Given the description of an element on the screen output the (x, y) to click on. 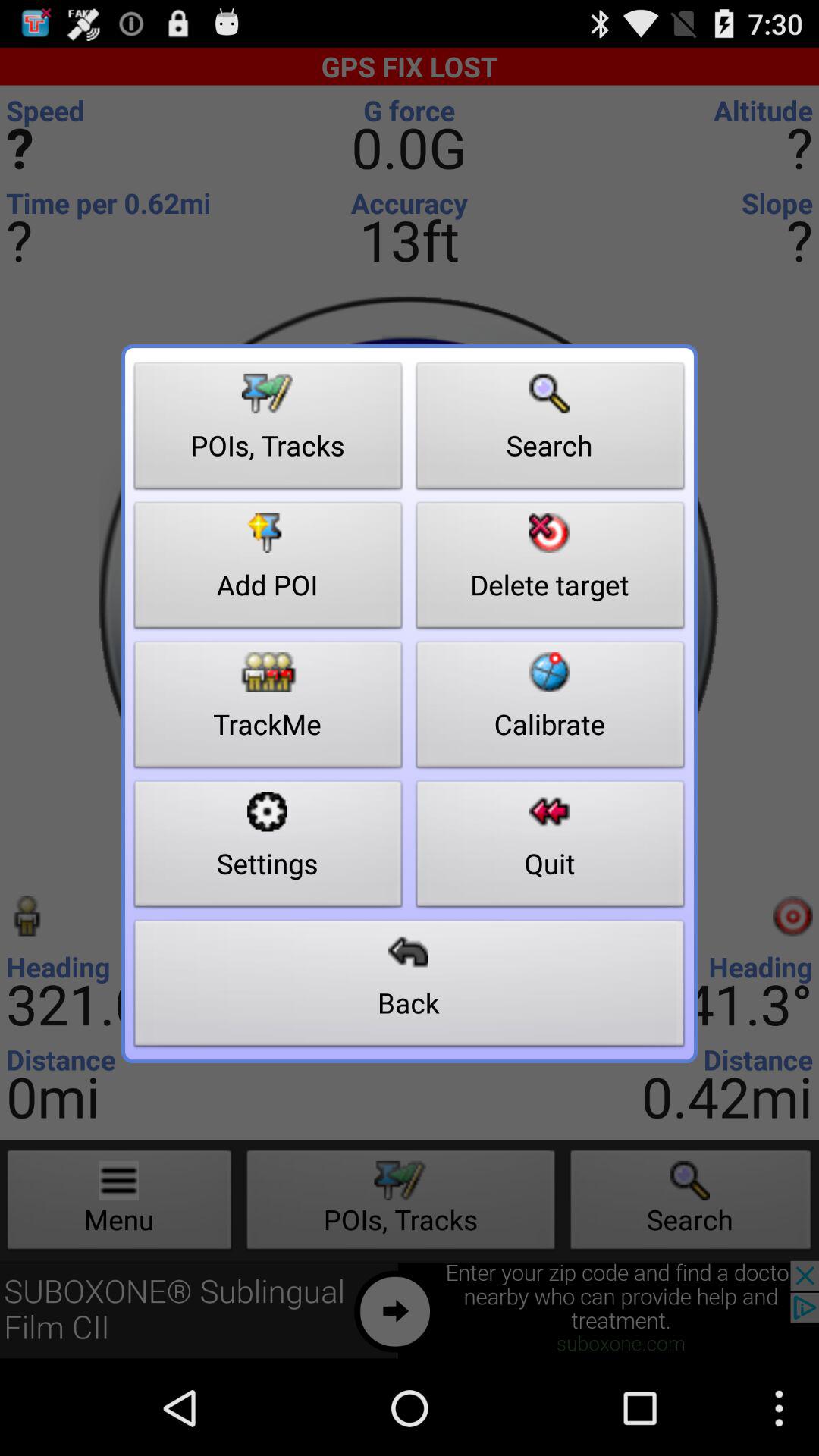
click item next to the trackme button (550, 847)
